Given the description of an element on the screen output the (x, y) to click on. 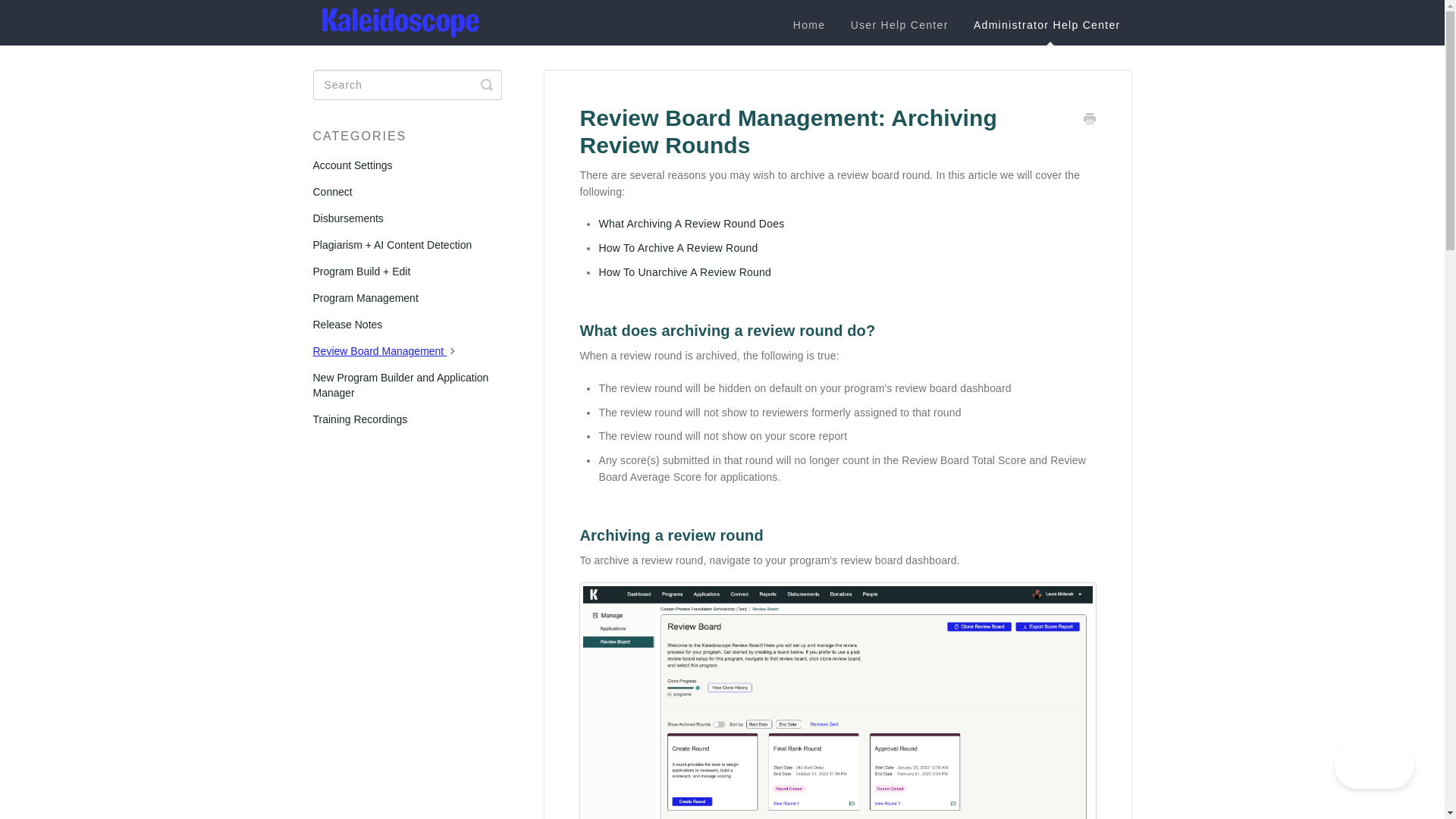
Program Management (371, 297)
Account Settings (358, 165)
Disbursements (353, 218)
Release Notes (353, 324)
User Help Center (899, 24)
Review Board Management (392, 351)
How To Unarchive A Review Round (684, 272)
Connect (337, 191)
Training Recordings (366, 419)
New Program Builder and Application Manager (412, 384)
